Given the description of an element on the screen output the (x, y) to click on. 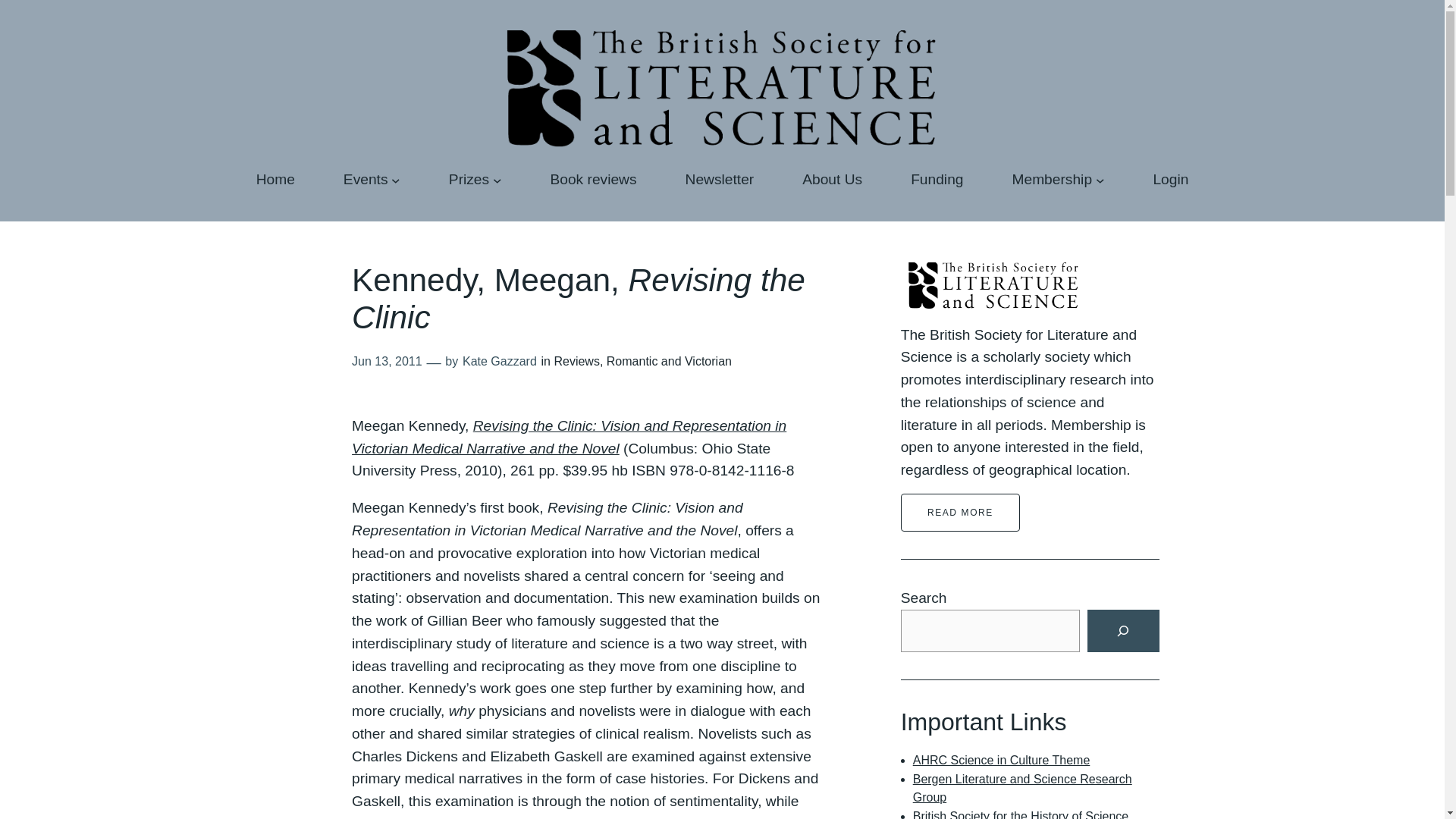
About Us (831, 179)
AHRC Science in Culture Theme (1001, 759)
BSLS Newsletters (719, 179)
Membership (1051, 179)
Login (1170, 179)
Reviews (575, 360)
Bergen Literature and Science Research Group (1022, 788)
READ MORE (960, 512)
Funding (936, 179)
Jun 13, 2011 (387, 360)
Romantic and Victorian (669, 360)
Prizes (468, 179)
Home (275, 179)
Events (365, 179)
